Given the description of an element on the screen output the (x, y) to click on. 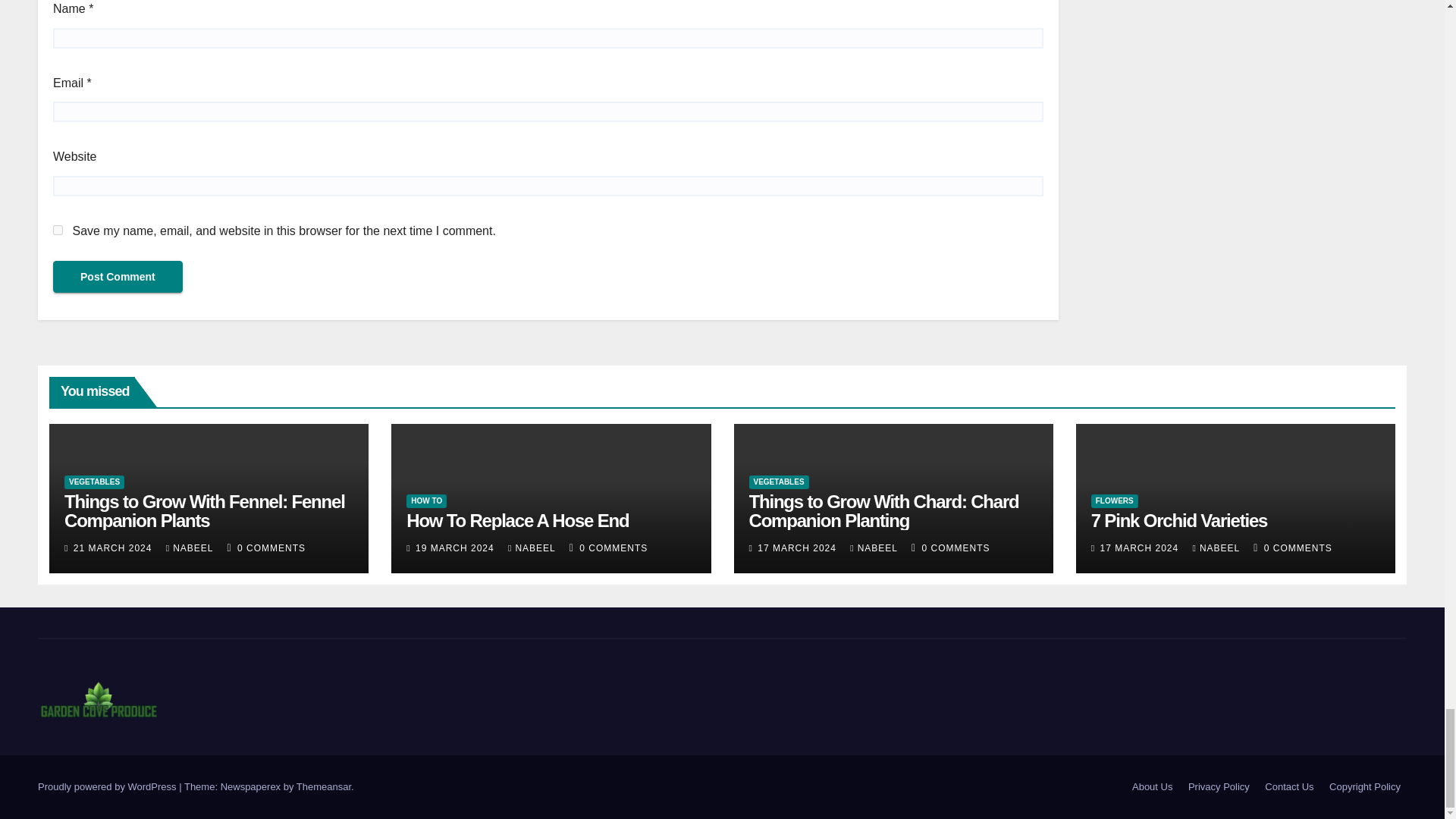
Post Comment (117, 276)
yes (57, 230)
Permalink to: How To Replace A Hose End (517, 520)
